Given the description of an element on the screen output the (x, y) to click on. 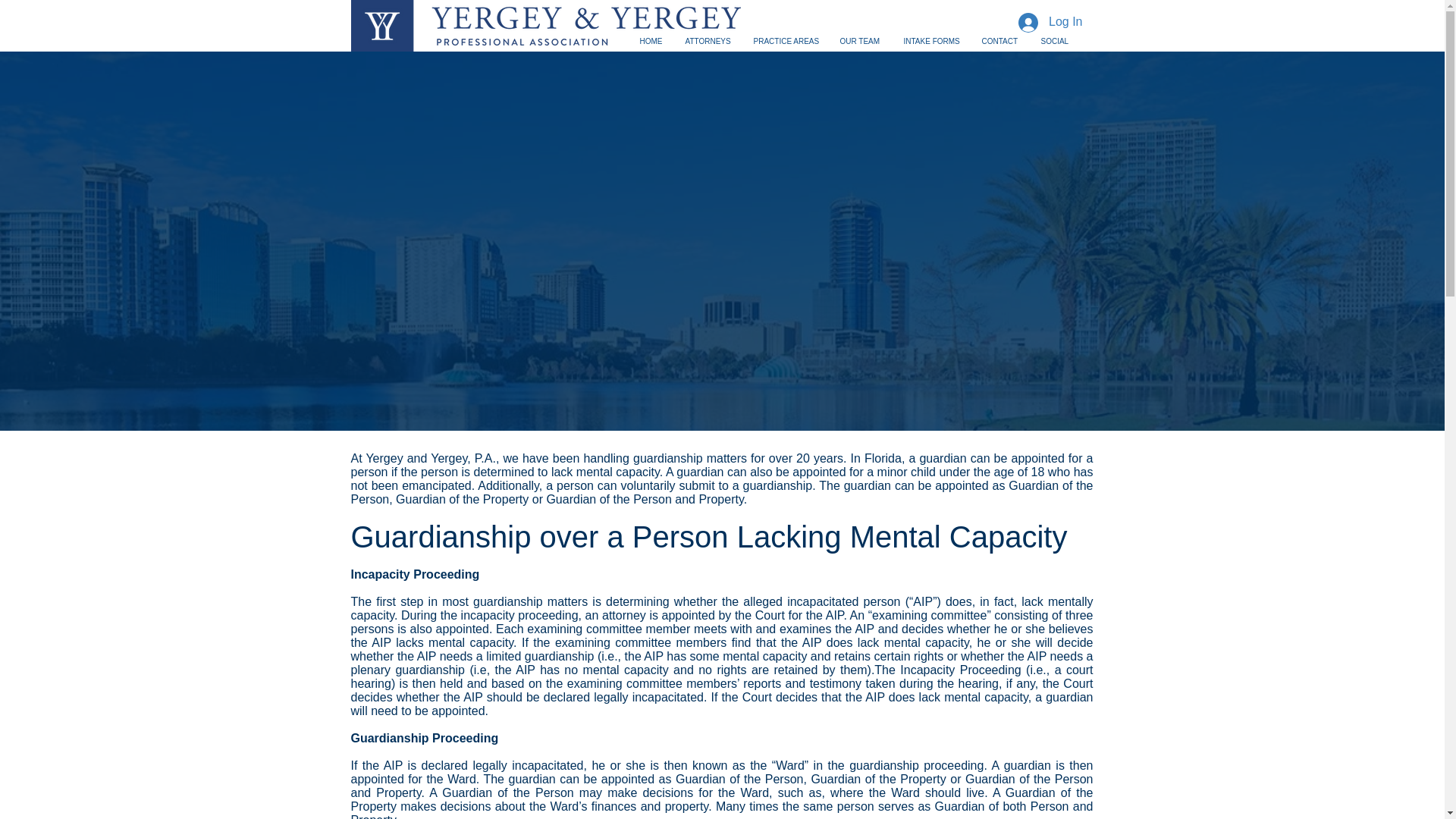
CONTACT (1000, 41)
ATTORNEYS (706, 41)
INTAKE FORMS (930, 41)
OUR TEAM (859, 41)
PRACTICE AREAS (784, 41)
SOCIAL (1054, 41)
Log In (1050, 21)
HOME (649, 41)
